Given the description of an element on the screen output the (x, y) to click on. 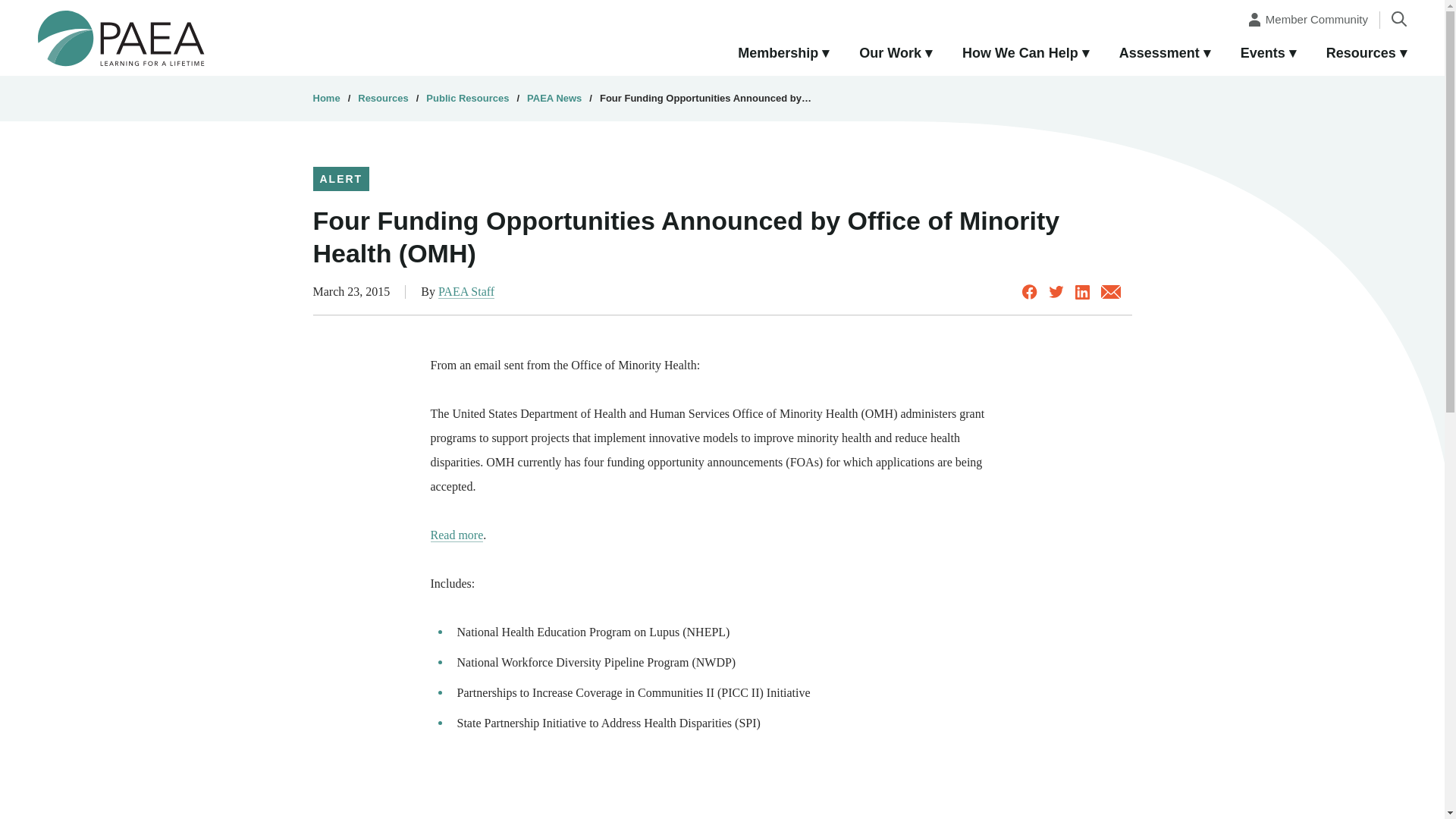
Membership (783, 53)
Our Work (895, 53)
homepage (121, 37)
